Given the description of an element on the screen output the (x, y) to click on. 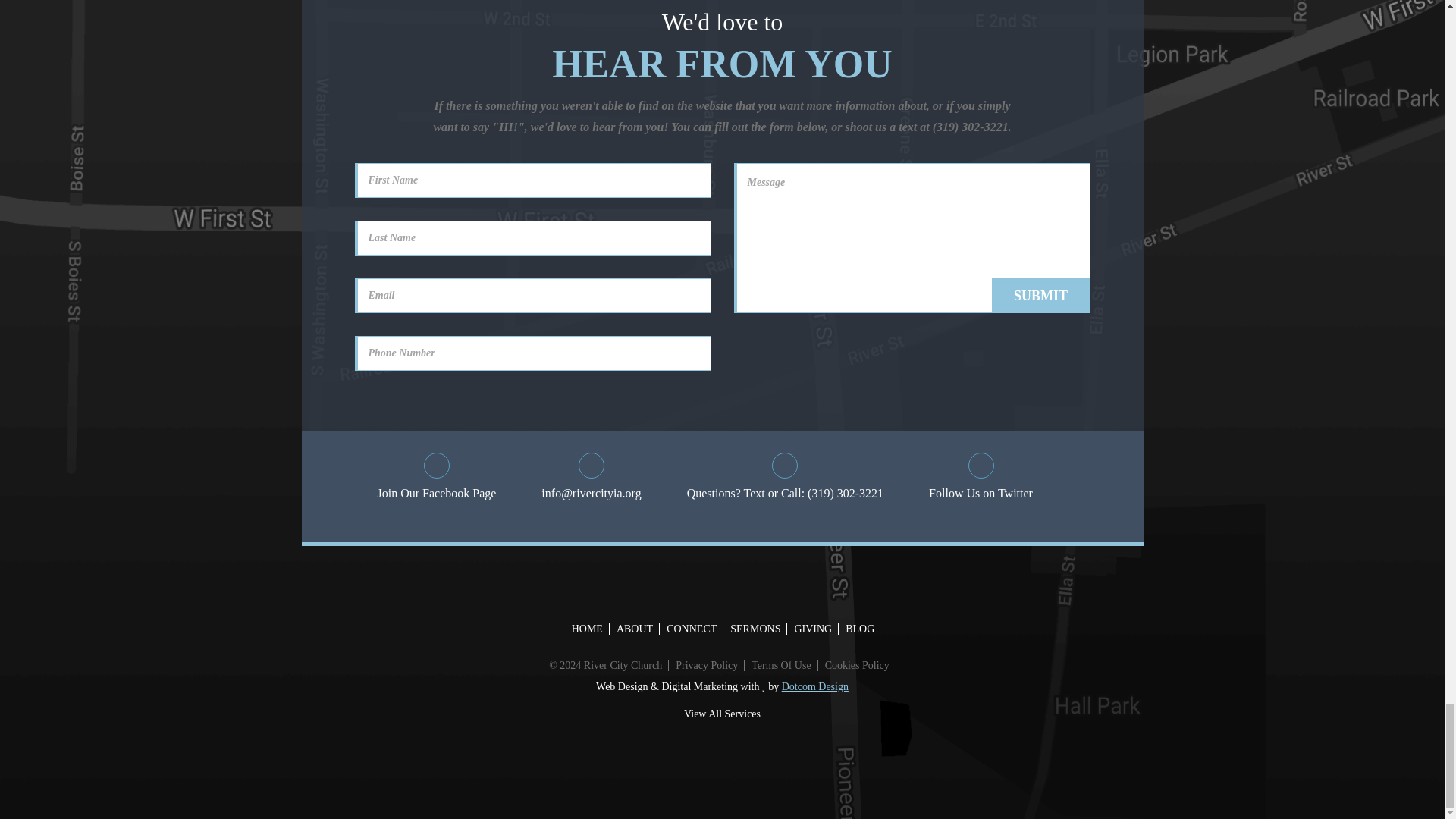
Cookie Policy (855, 665)
Terms of Use (780, 665)
Join Our Facebook Group (436, 477)
Submit (1040, 295)
Submit (1040, 295)
Dotcom Design (814, 686)
Follow Us on Twitter (980, 477)
Follow Us on Twitter (980, 477)
Privacy Policy (706, 665)
Join Our Facebook Page (436, 477)
